Given the description of an element on the screen output the (x, y) to click on. 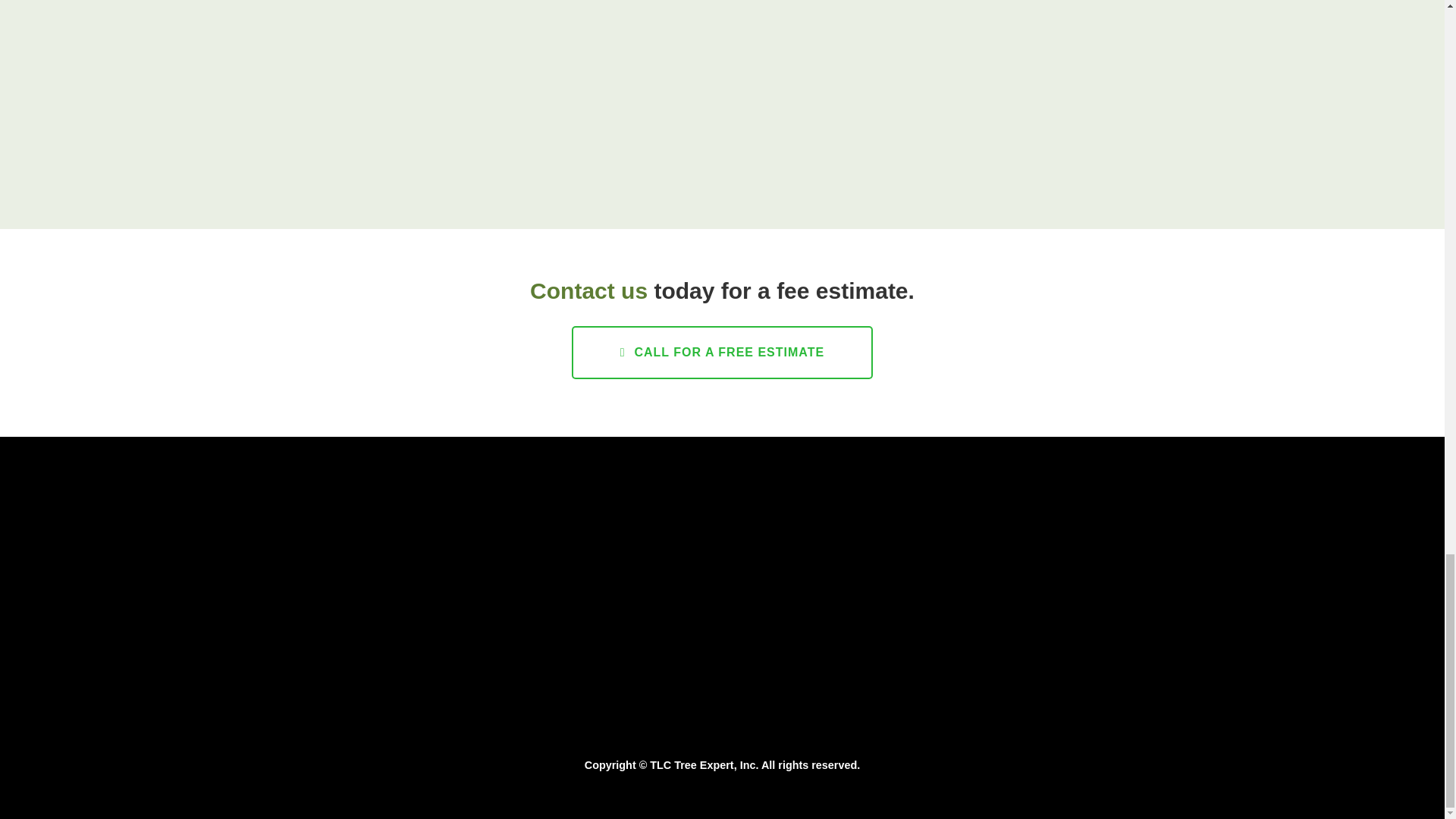
CALL FOR A FREE ESTIMATE (722, 352)
Contact us (588, 290)
CALL FOR A FREE ESTIMATE (722, 352)
